Given the description of an element on the screen output the (x, y) to click on. 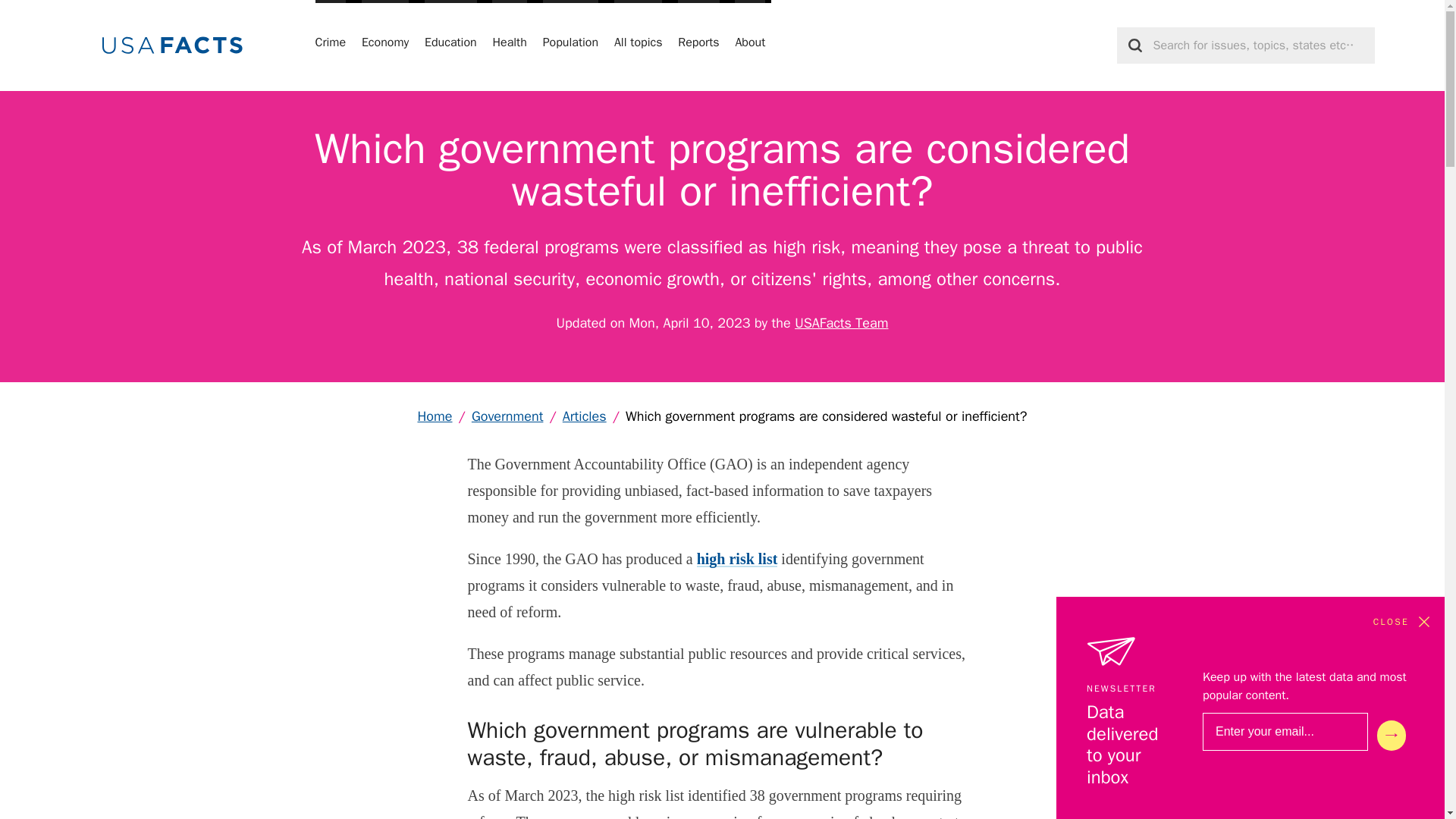
Reports (698, 45)
Health (508, 45)
Crime (330, 45)
Education (451, 45)
Economy (385, 45)
Population (570, 45)
